Given the description of an element on the screen output the (x, y) to click on. 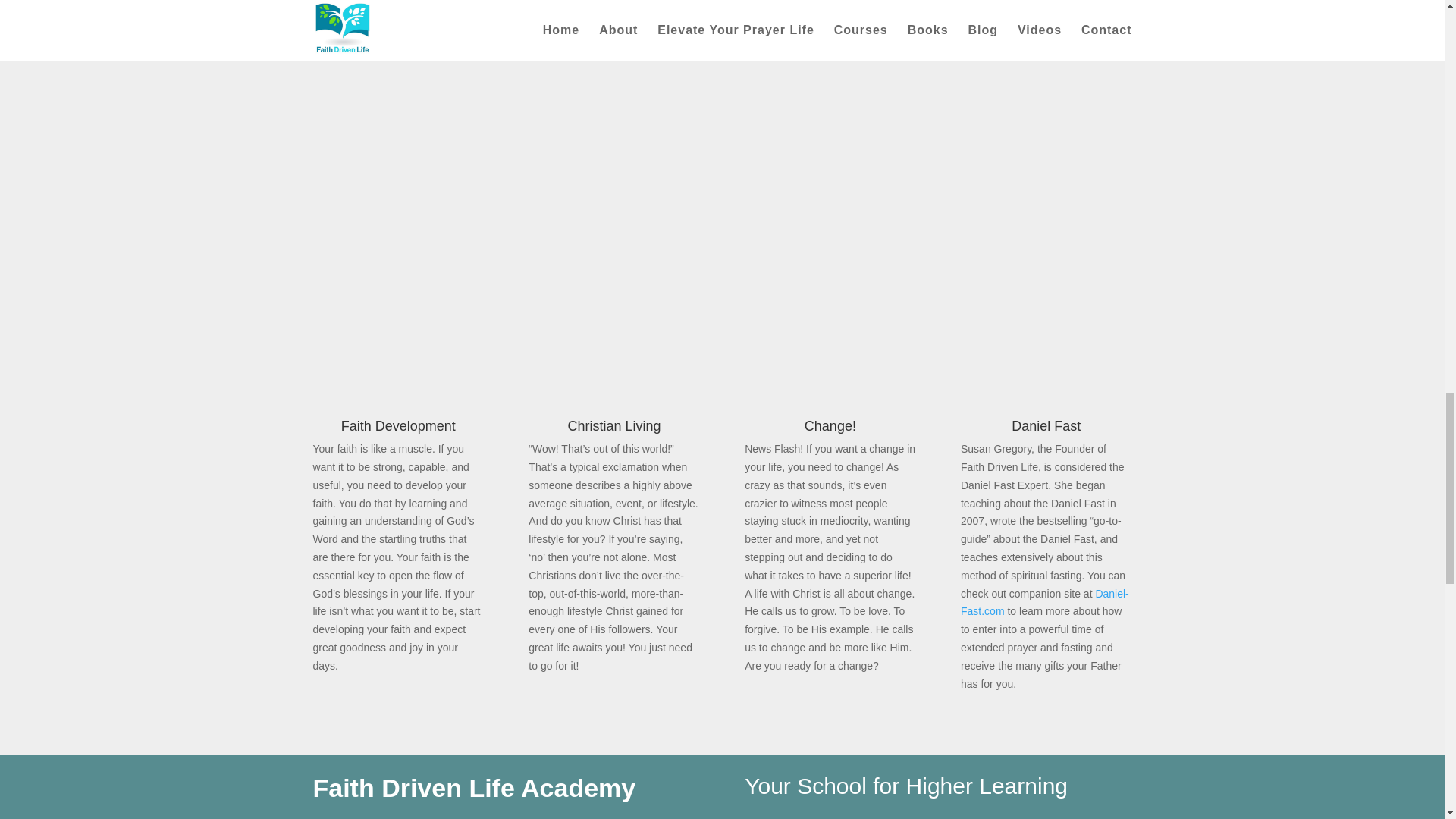
Daniel-Fast.com (1044, 603)
